Given the description of an element on the screen output the (x, y) to click on. 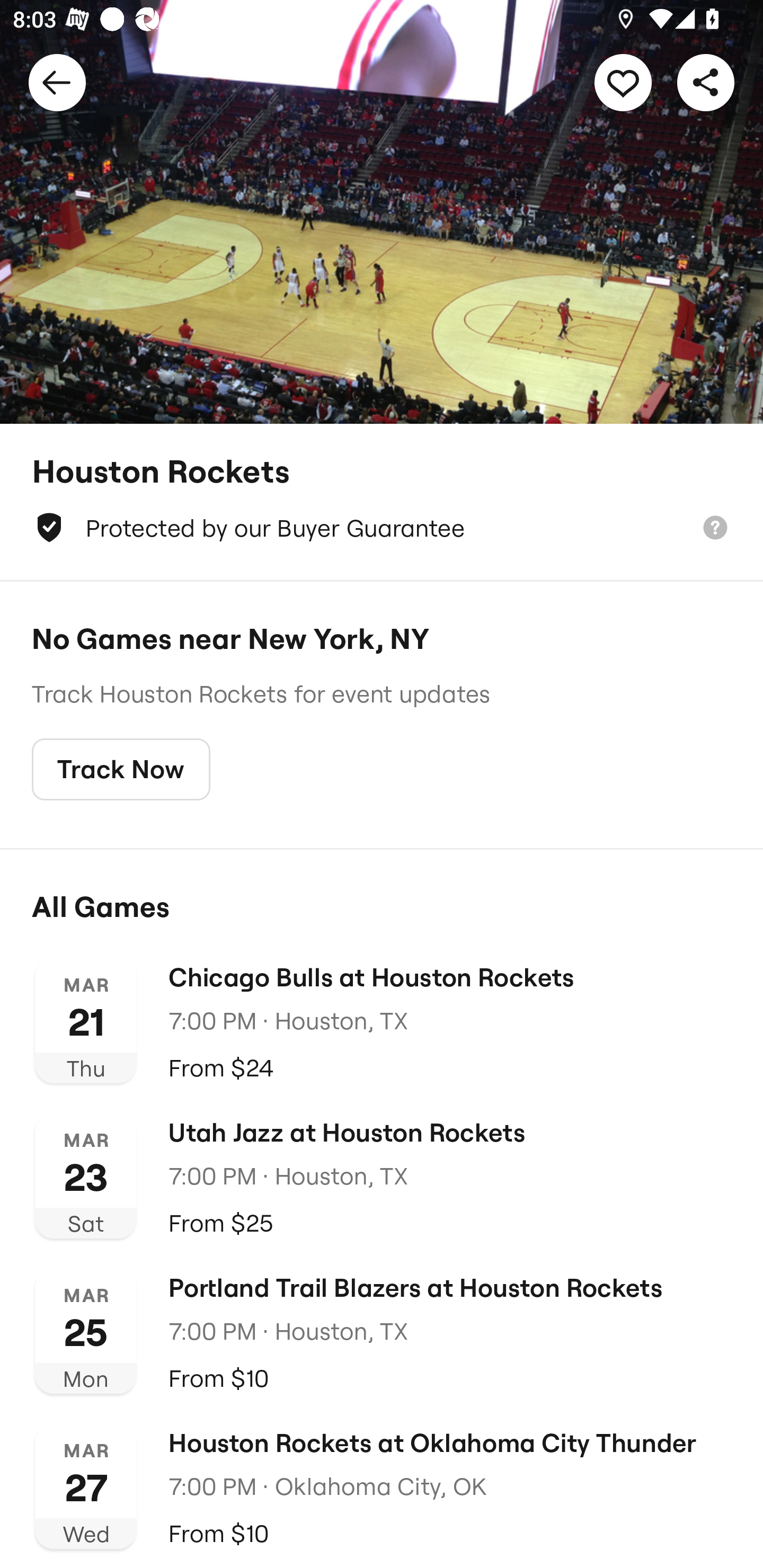
Back (57, 81)
Track this performer (623, 81)
Share this performer (705, 81)
Protected by our Buyer Guarantee Learn more (381, 527)
Track Now (121, 769)
